Given the description of an element on the screen output the (x, y) to click on. 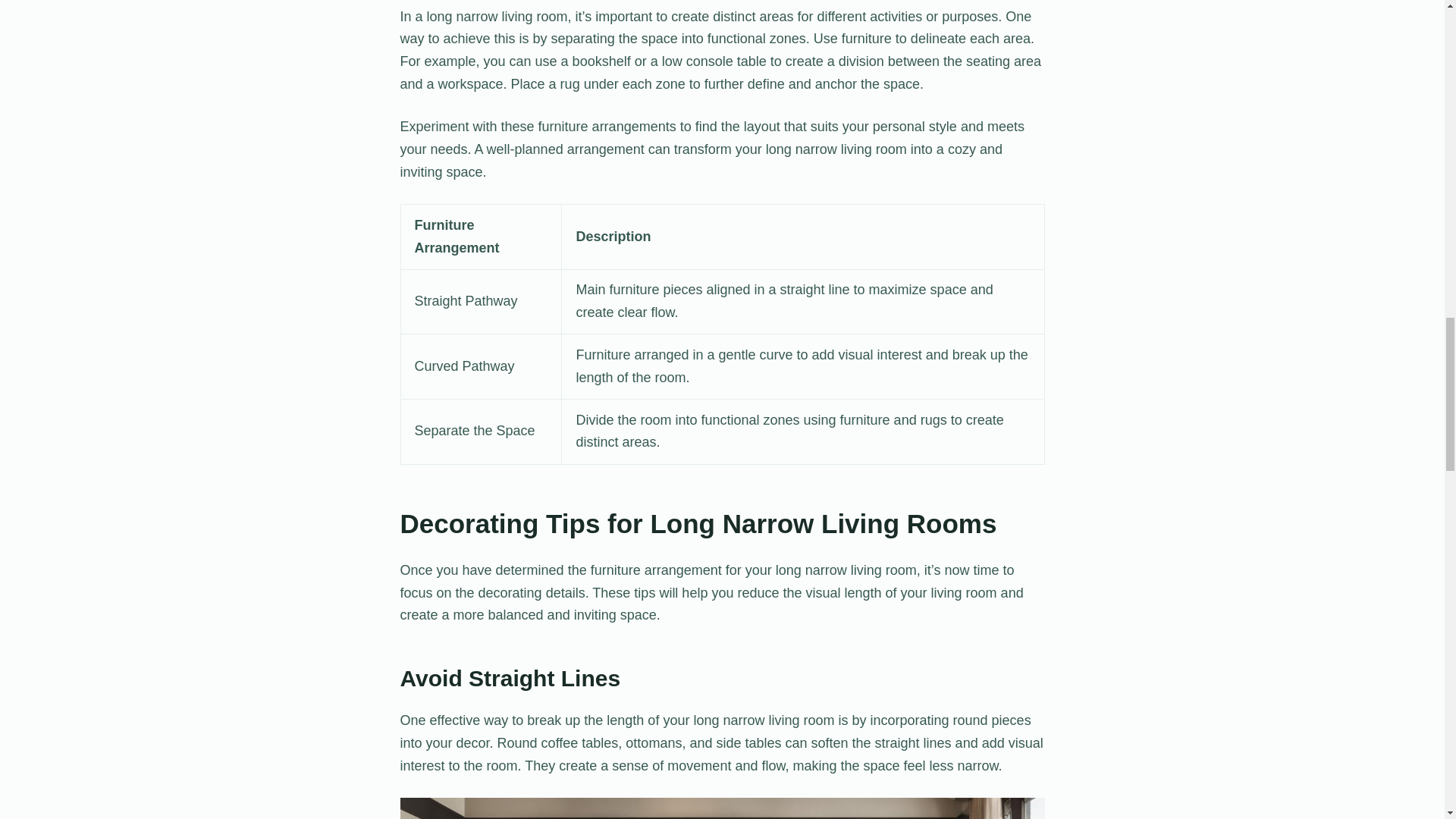
round pieces (722, 808)
